Given the description of an element on the screen output the (x, y) to click on. 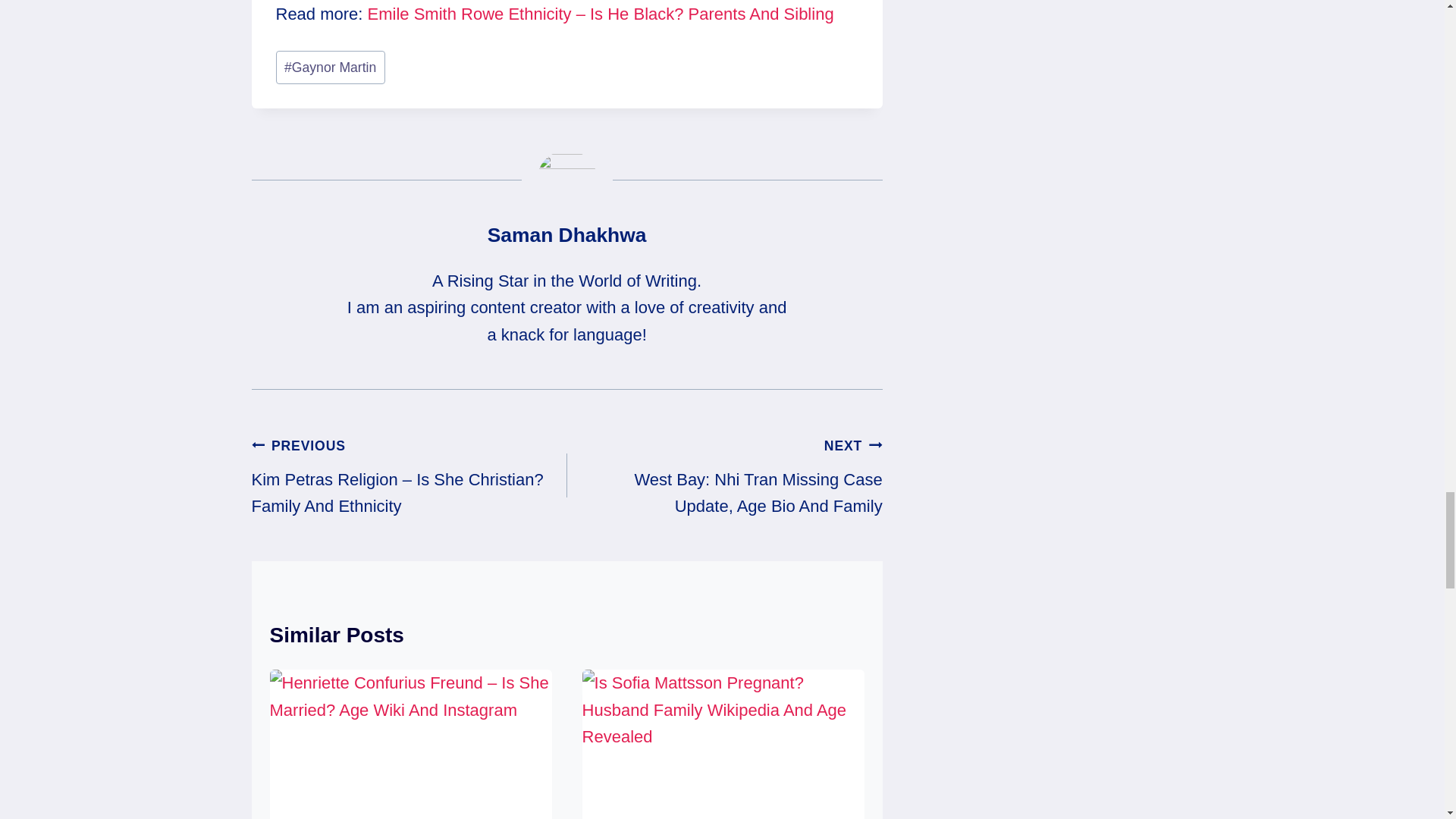
Posts by Saman Dhakhwa (566, 234)
Gaynor Martin (330, 67)
Saman Dhakhwa (566, 234)
